Given the description of an element on the screen output the (x, y) to click on. 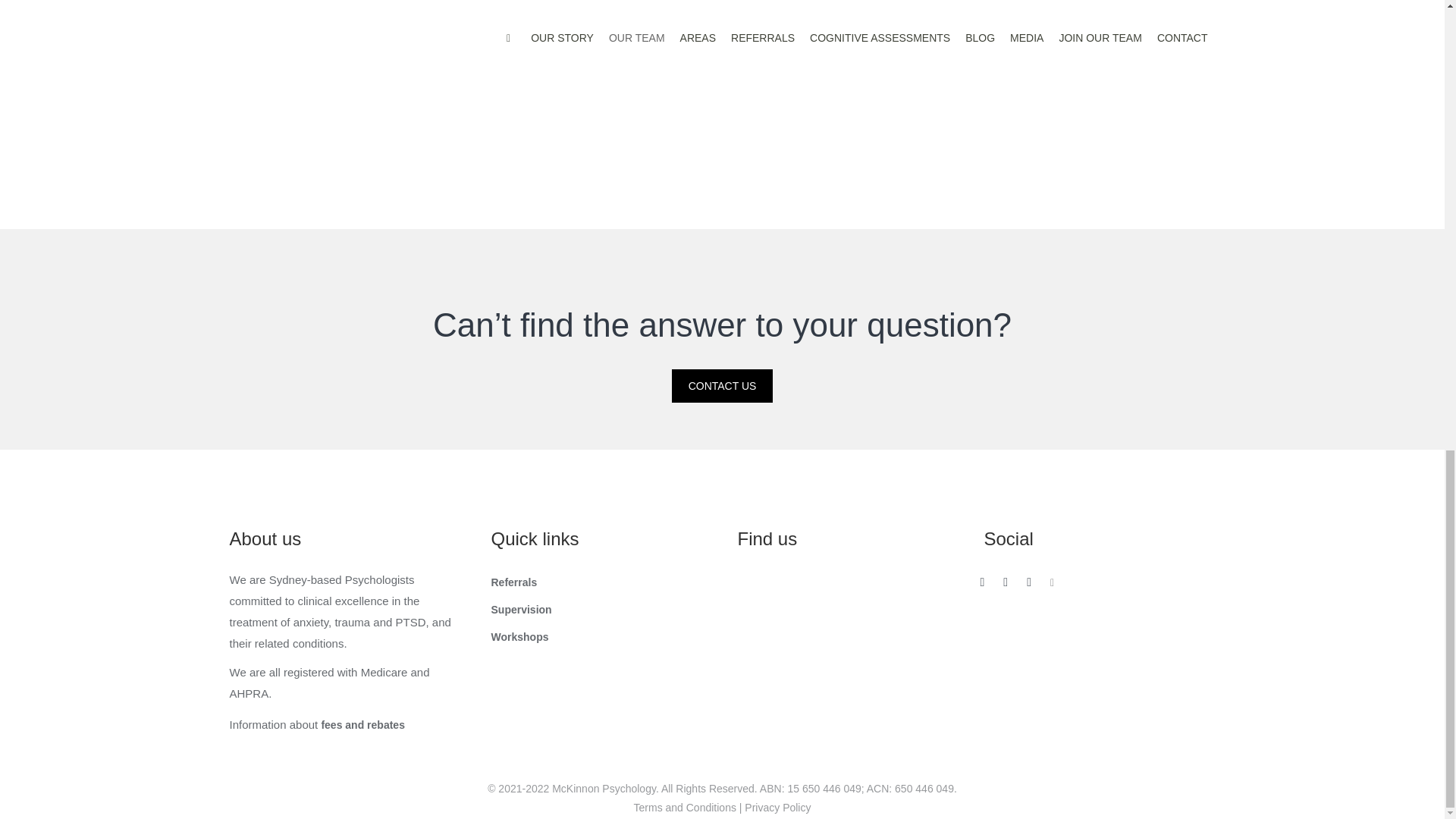
psychologist-bondi-junction - McKinnon Psychology (355, 114)
psychologist-bronte - McKinnon Psychology (1088, 114)
psychologist-rose-bay - McKinnon Psychology (844, 114)
psychologist-paddington - McKinnon Psychology (599, 114)
psychologist-bondi - McKinnon Psychology (116, 114)
